Given the description of an element on the screen output the (x, y) to click on. 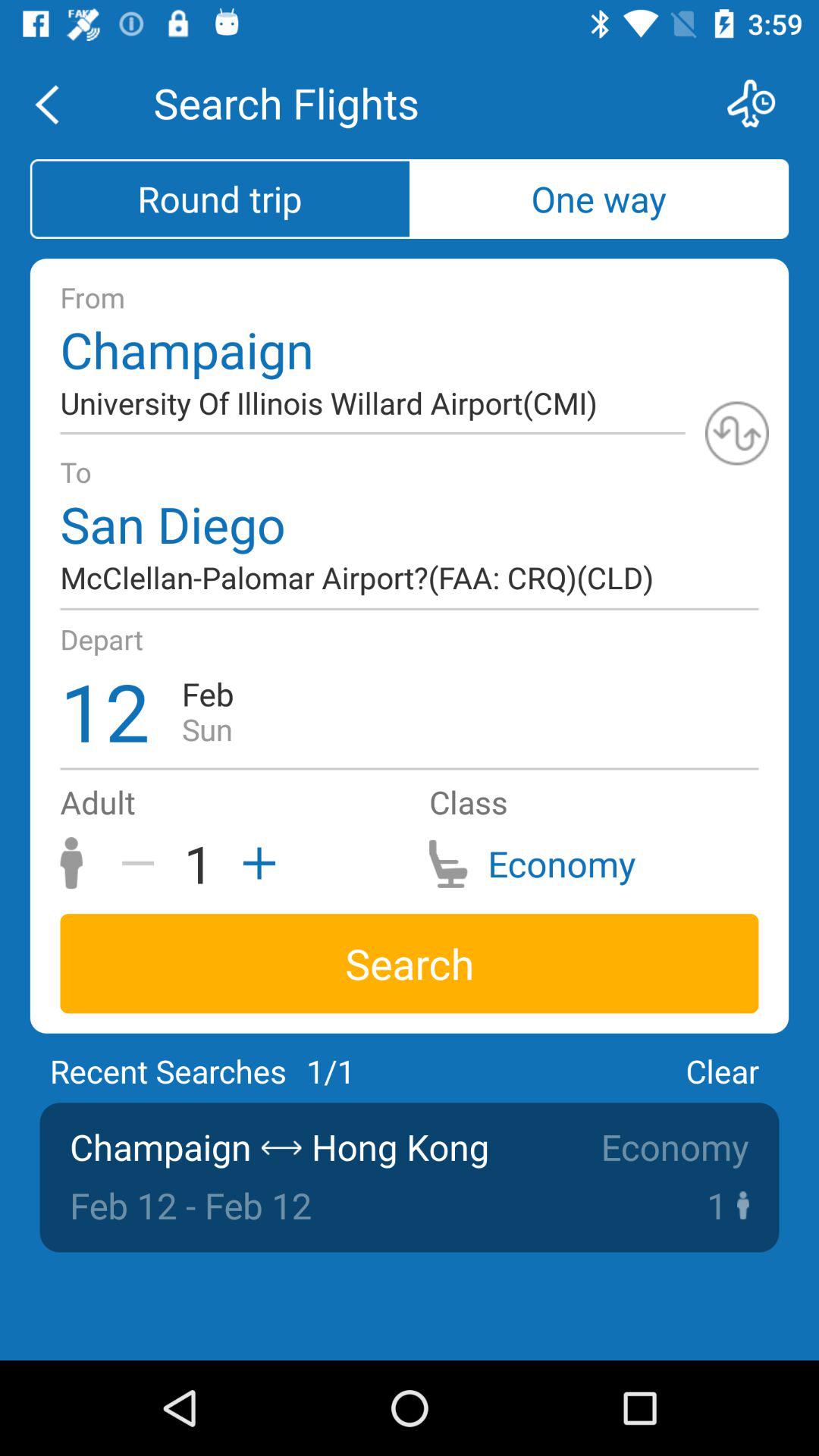
subtract quantity (143, 863)
